Given the description of an element on the screen output the (x, y) to click on. 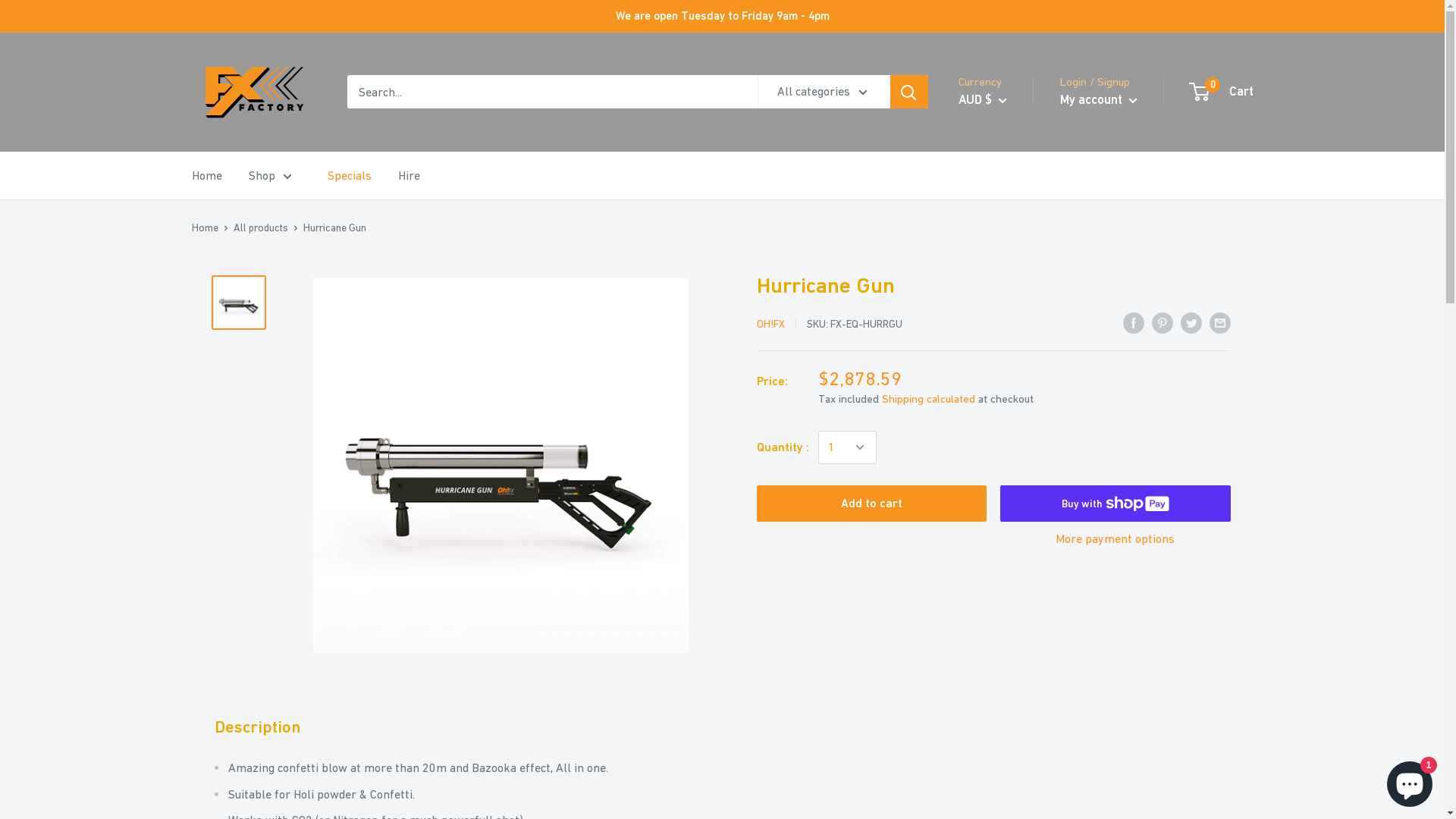
AUD $ Element type: text (982, 99)
Home Element type: text (204, 227)
Shipping calculated Element type: text (927, 398)
OH!FX Element type: text (770, 323)
NZD Element type: text (994, 164)
All products Element type: text (260, 227)
Shop Element type: text (269, 175)
AUD Element type: text (994, 141)
0
Cart Element type: text (1221, 91)
Add to cart Element type: text (871, 503)
My account Element type: text (1098, 99)
Home Element type: text (206, 175)
Hire Element type: text (408, 175)
More payment options Element type: text (1115, 538)
Shopify online store chat Element type: hover (1409, 780)
